Given the description of an element on the screen output the (x, y) to click on. 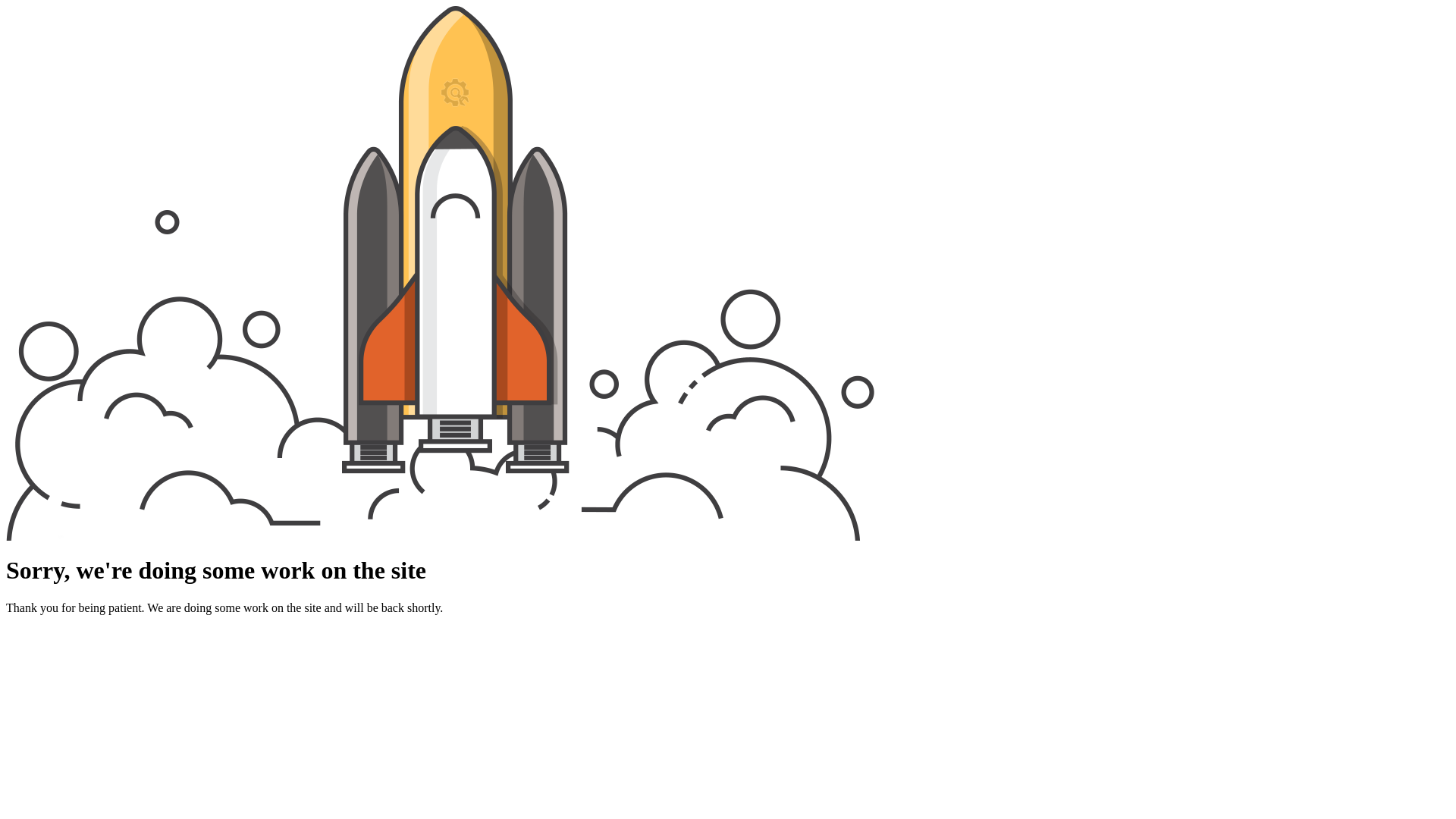
Rocket Launch Element type: hover (440, 273)
